Given the description of an element on the screen output the (x, y) to click on. 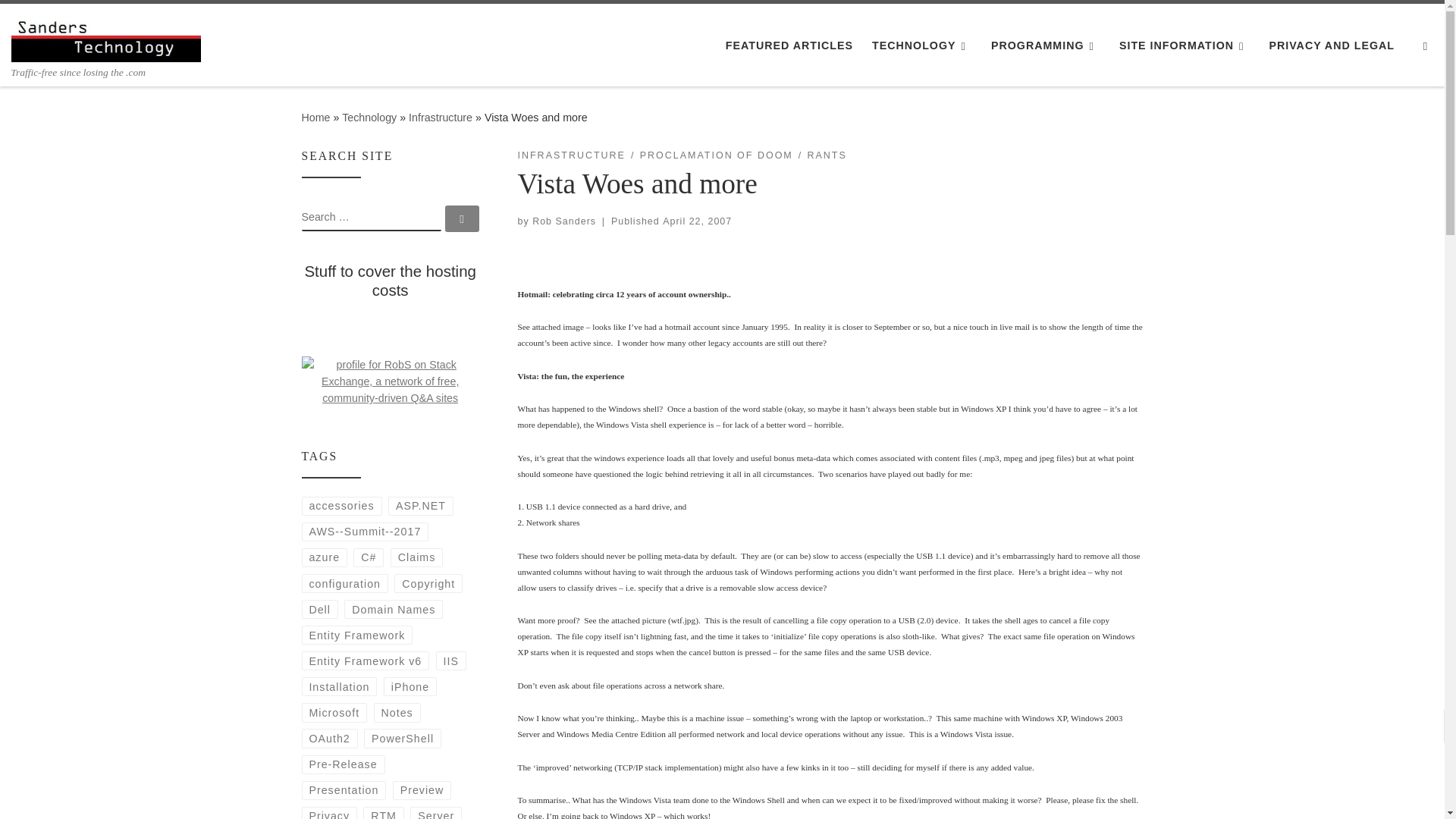
View all posts in Rants (825, 155)
Skip to content (60, 20)
PROGRAMMING (1046, 45)
PRIVACY AND LEGAL (1331, 45)
SITE INFORMATION (1185, 45)
Sanders Technology (315, 117)
Technology (369, 117)
View all posts in Proclamation of Doom (716, 155)
Infrastructure (440, 117)
FEATURED ARTICLES (789, 45)
TECHNOLOGY (921, 45)
View all posts in Infrastructure (570, 155)
4:13 PM (697, 221)
View all posts by Rob Sanders (563, 221)
